Given the description of an element on the screen output the (x, y) to click on. 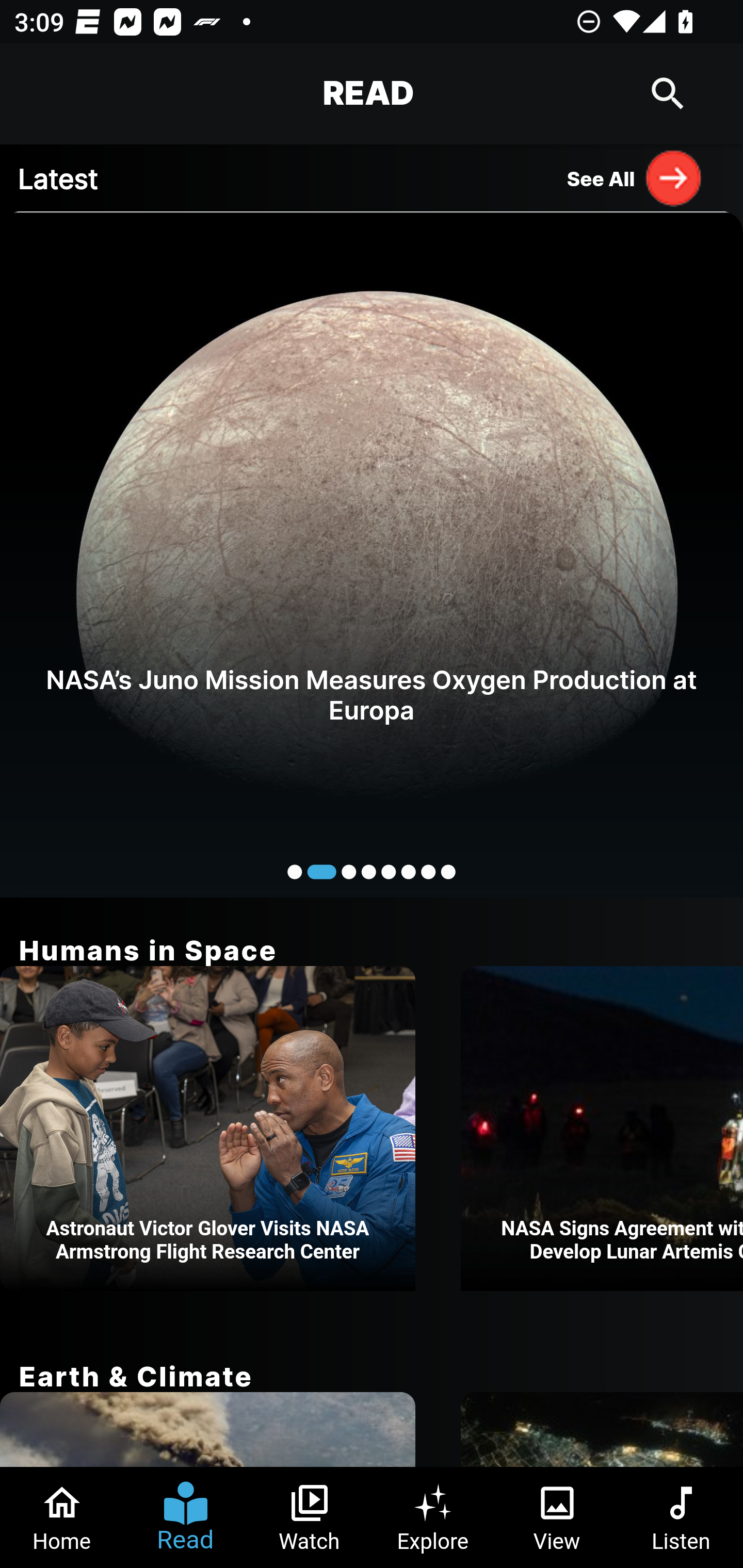
See All (634, 177)
Home
Tab 1 of 6 (62, 1517)
Read
Tab 2 of 6 (185, 1517)
Watch
Tab 3 of 6 (309, 1517)
Explore
Tab 4 of 6 (433, 1517)
View
Tab 5 of 6 (556, 1517)
Listen
Tab 6 of 6 (680, 1517)
